Given the description of an element on the screen output the (x, y) to click on. 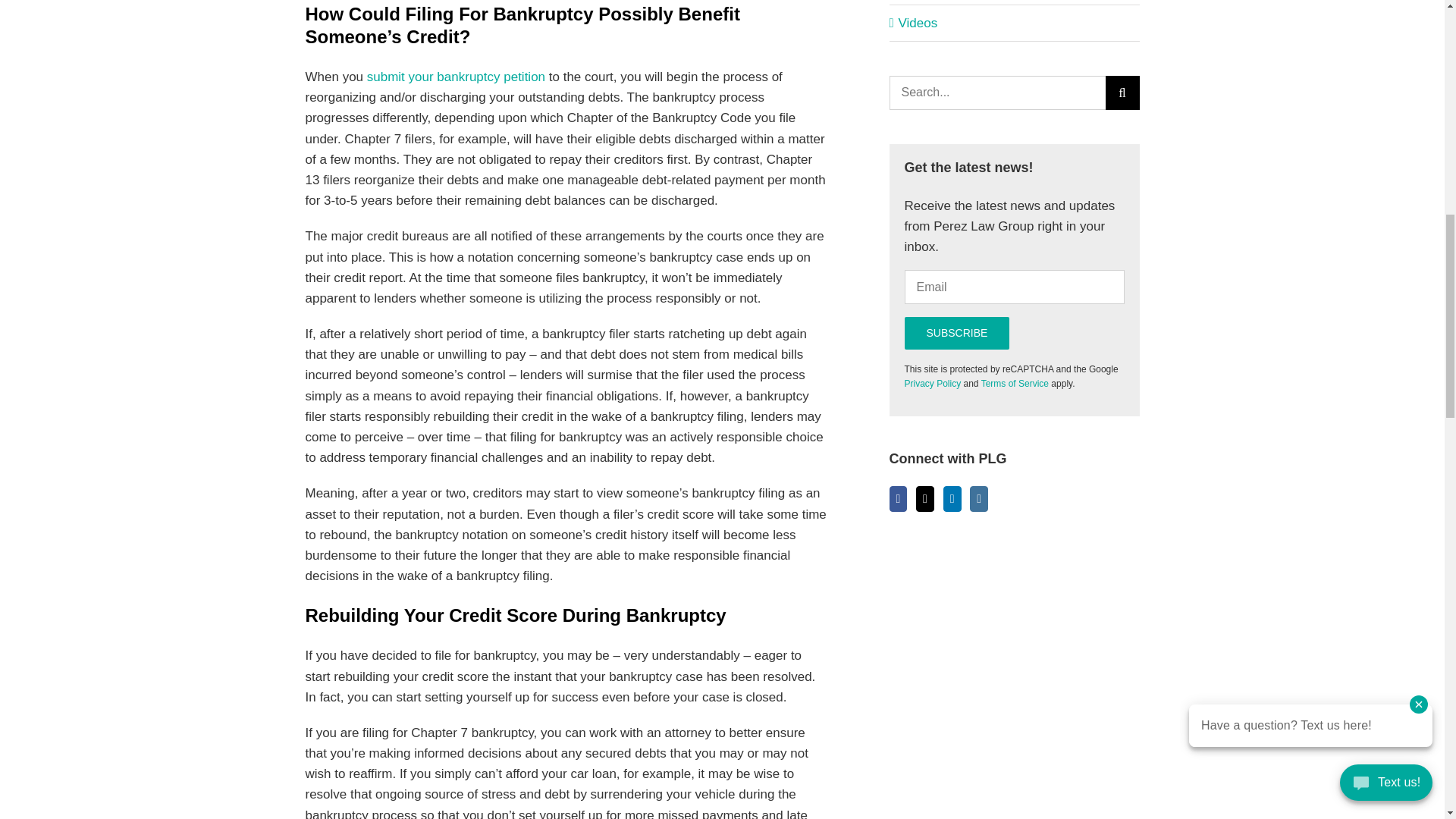
Subscribe (956, 332)
